Given the description of an element on the screen output the (x, y) to click on. 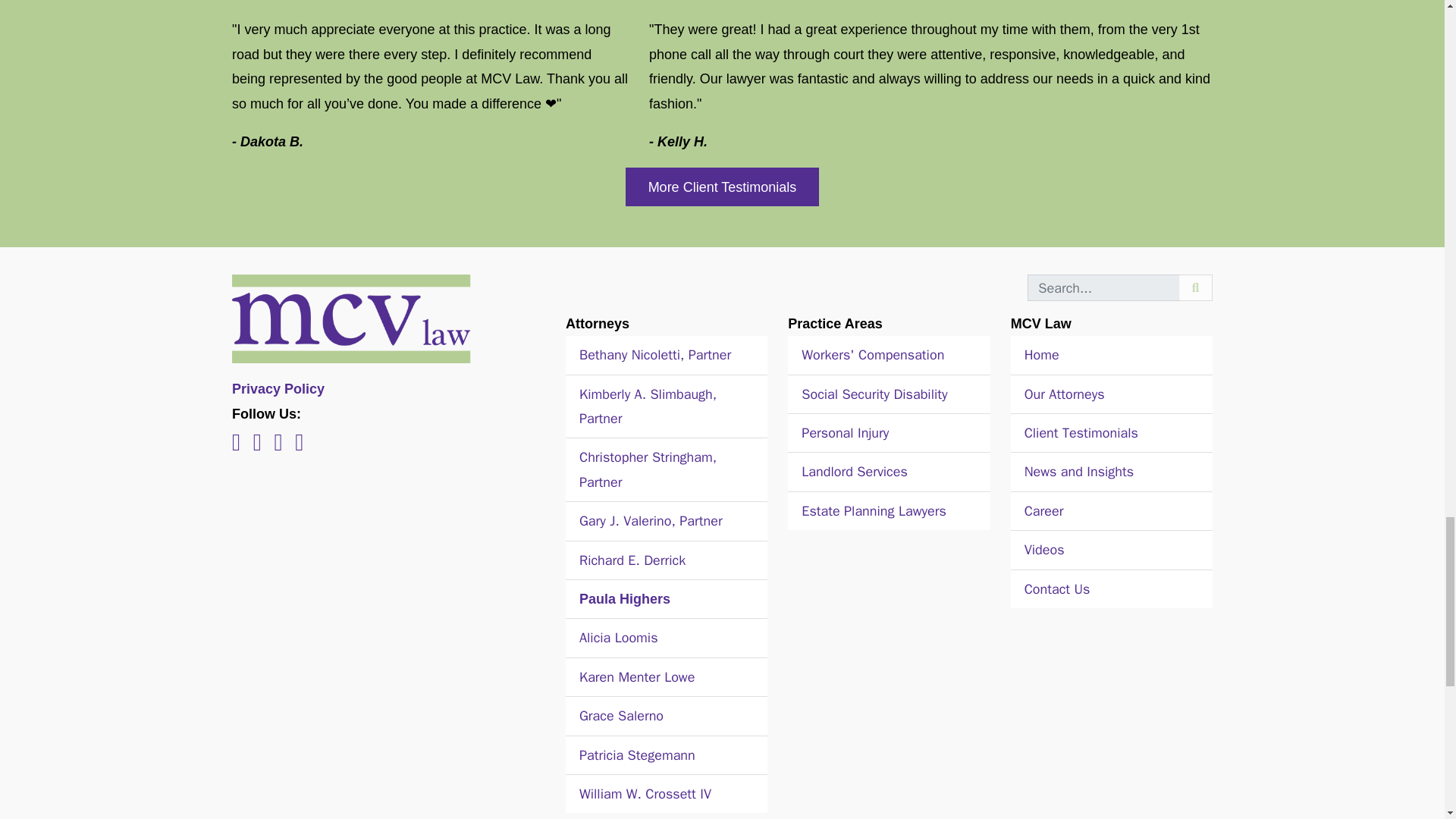
Christopher Stringham (647, 468)
Bethany Nicoletti (654, 354)
Privacy Policy (277, 388)
Alicia L. Loomis (618, 637)
Richard E Derrick (632, 560)
Client Testimonials (722, 186)
Gary J Valerino (650, 520)
Kimberly A Slimbaugh (647, 405)
Paula Highers (624, 598)
